Given the description of an element on the screen output the (x, y) to click on. 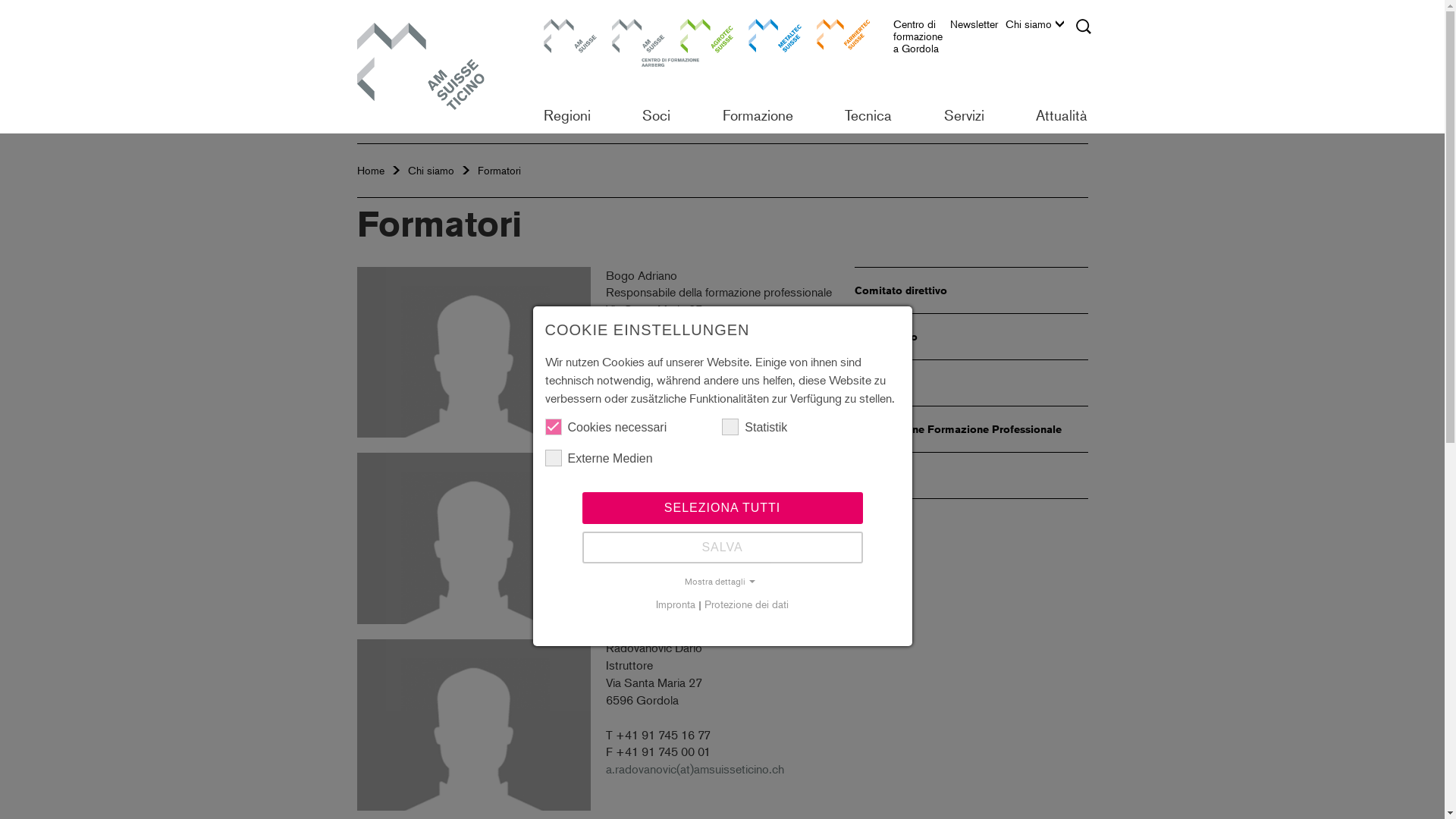
Metaltec Suisse Element type: text (773, 45)
Comitato direttivo Element type: text (970, 289)
Protezione dei dati Element type: text (746, 603)
SELEZIONA TUTTI Element type: text (722, 507)
Centro di formazione Aarberg Element type: text (637, 45)
s.casile(at)amsuisseticino.ch Element type: text (677, 581)
Newsletter Element type: text (976, 27)
Commissione Formazione Professionale Element type: text (970, 428)
Mostra dettagli Element type: text (721, 581)
a.bogo(at)amsuisseticino.ch Element type: text (677, 395)
Agrotec Suisse Element type: text (705, 45)
Chi siamo Element type: text (430, 169)
Impronta Element type: text (675, 603)
AM Suisse Element type: hover (435, 67)
SALVA Element type: text (722, 546)
Centro di formazione a Gordola Element type: text (921, 40)
Segretariato Element type: text (970, 336)
Contatto Element type: text (970, 474)
Formatori Element type: text (498, 169)
AM Suisse Element type: text (569, 45)
Chi siamo Element type: text (1038, 27)
Formatori Element type: text (970, 382)
a.radovanovic(at)amsuisseticino.ch Element type: text (694, 768)
Home Element type: text (369, 169)
Farriertec Suisse Element type: text (842, 45)
